Given the description of an element on the screen output the (x, y) to click on. 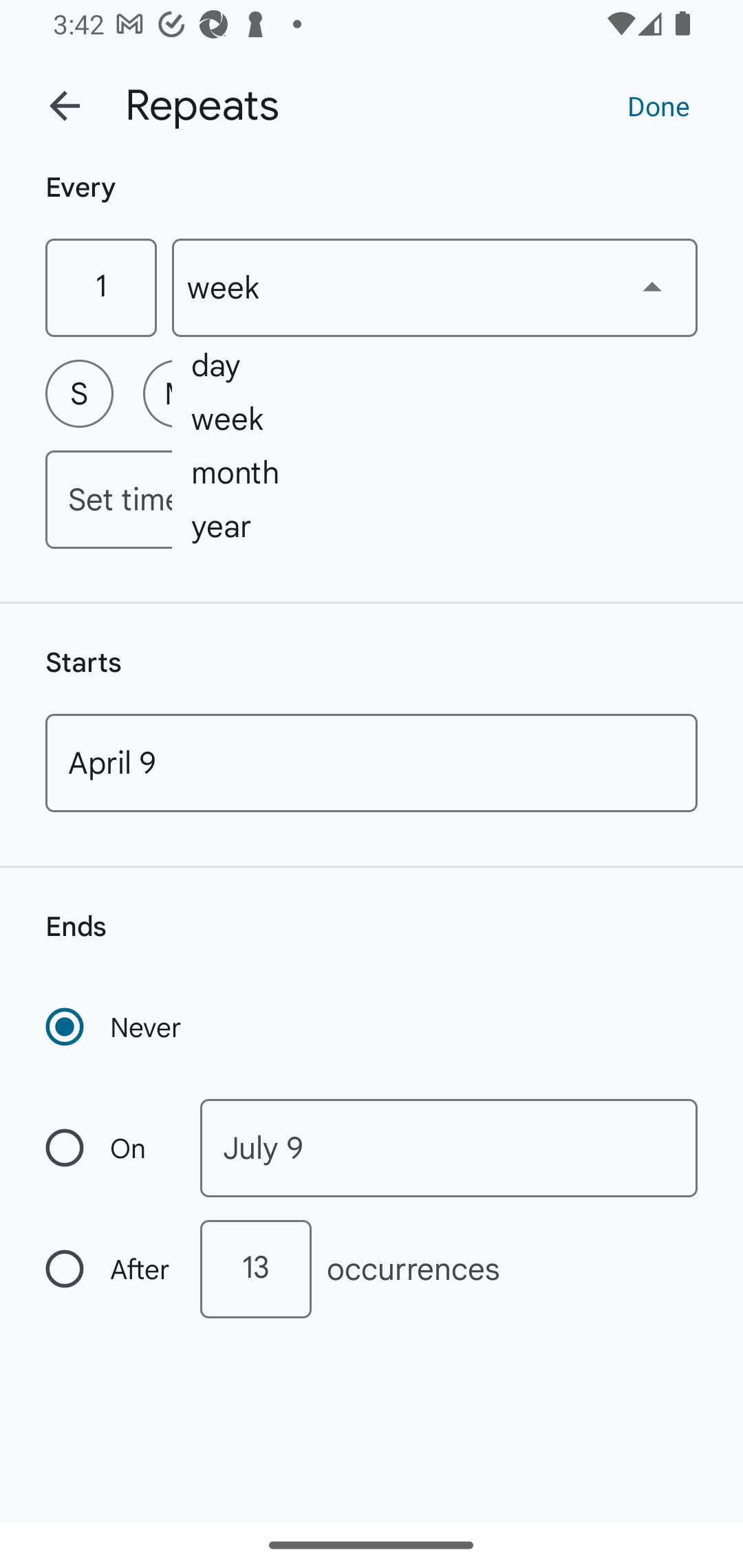
Back (64, 105)
Done (658, 105)
1 (100, 287)
week (434, 287)
Show dropdown menu (652, 286)
S Sunday (79, 393)
Set time (371, 499)
April 9 (371, 762)
Never Recurrence never ends (115, 1026)
July 9 (448, 1148)
On Recurrence ends on a specific date (109, 1148)
13 (255, 1268)
